Given the description of an element on the screen output the (x, y) to click on. 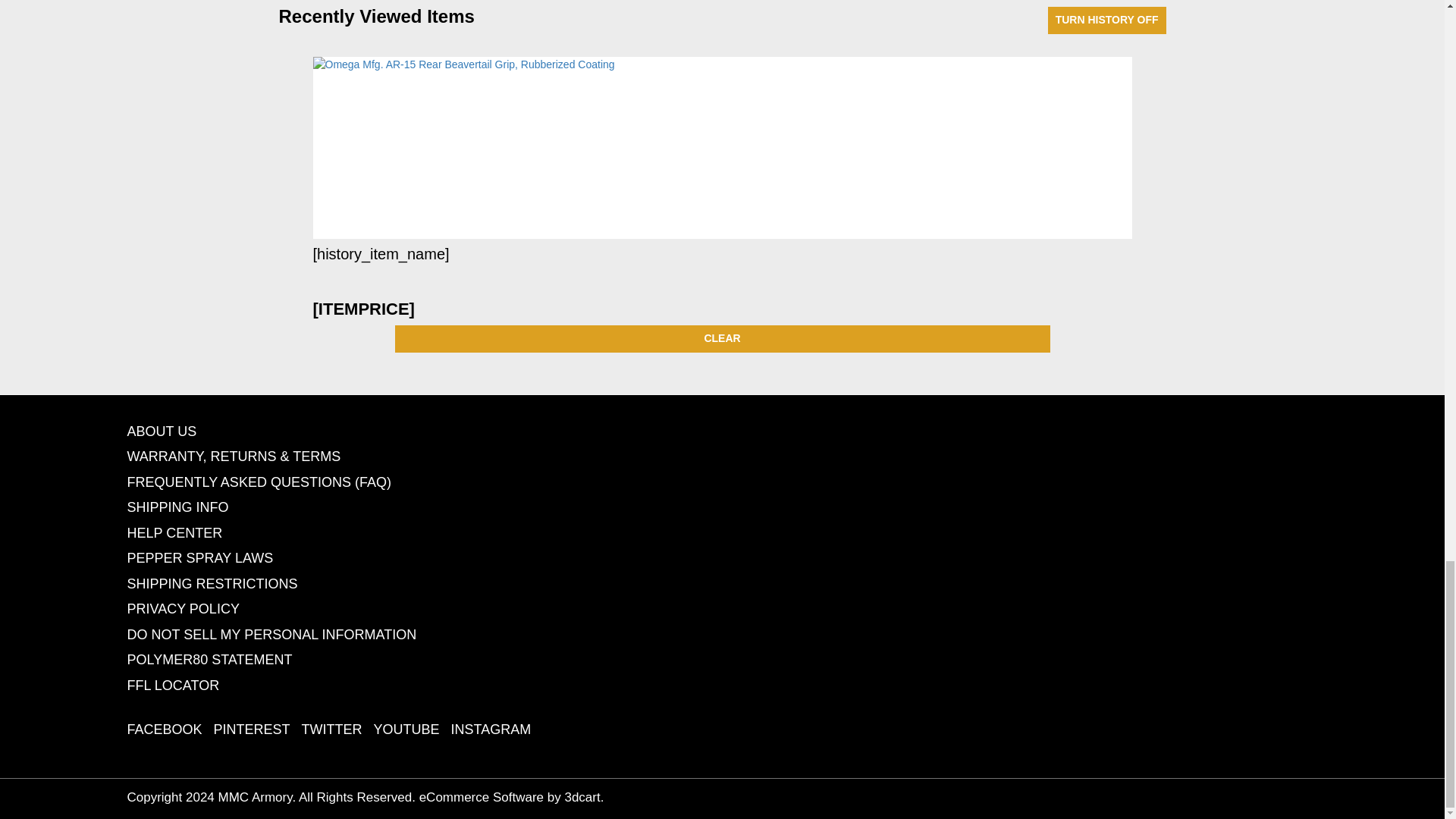
Follow Us on Instagram (491, 729)
Follow Us on Pinterest (251, 729)
Follow Us on Twitter (331, 729)
Like Us on Facebook (165, 729)
Subscribe to our Channel (406, 729)
